Given the description of an element on the screen output the (x, y) to click on. 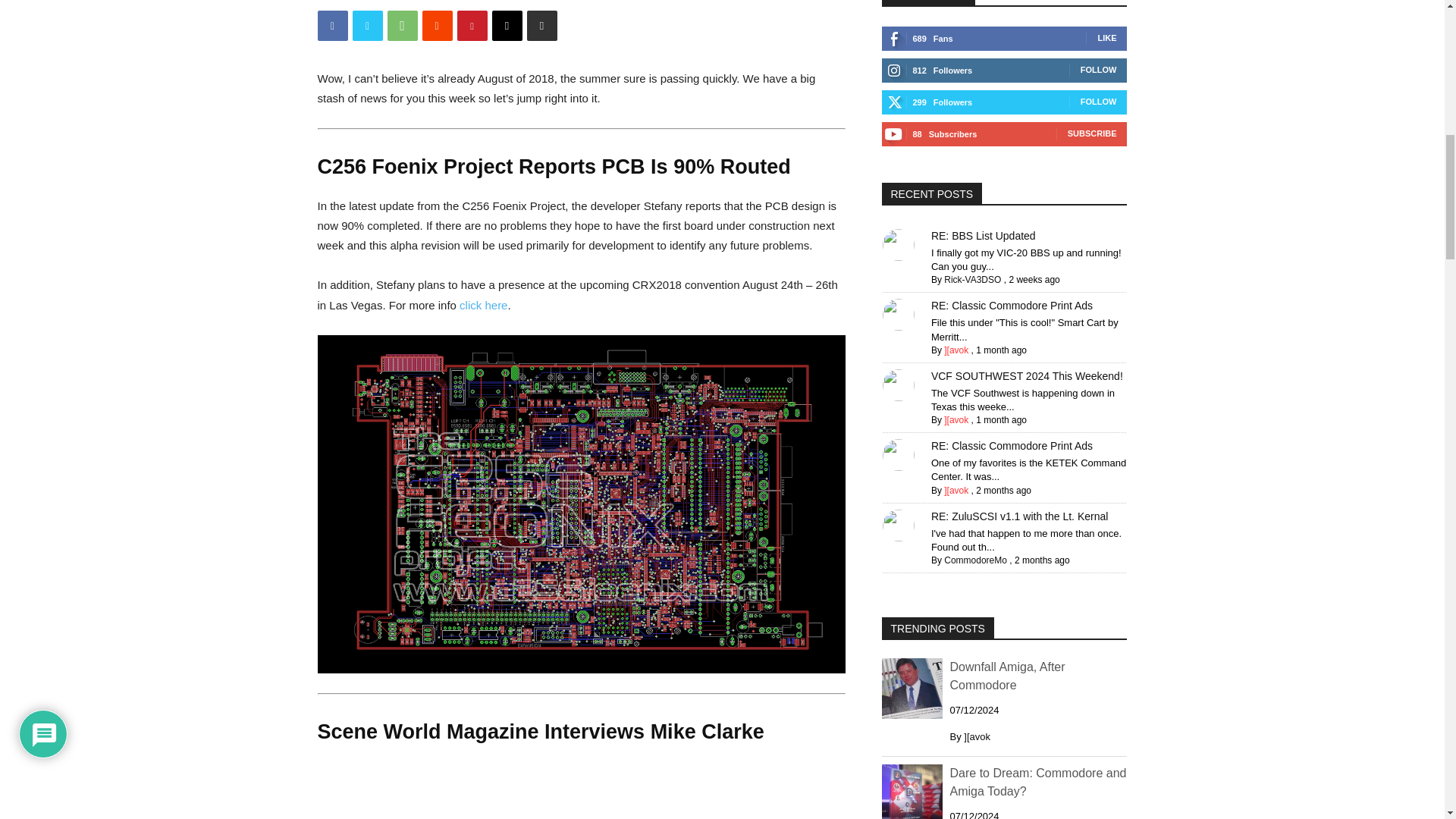
ReddIt (436, 25)
WhatsApp (401, 25)
Twitter (366, 25)
Facebook (332, 25)
